Given the description of an element on the screen output the (x, y) to click on. 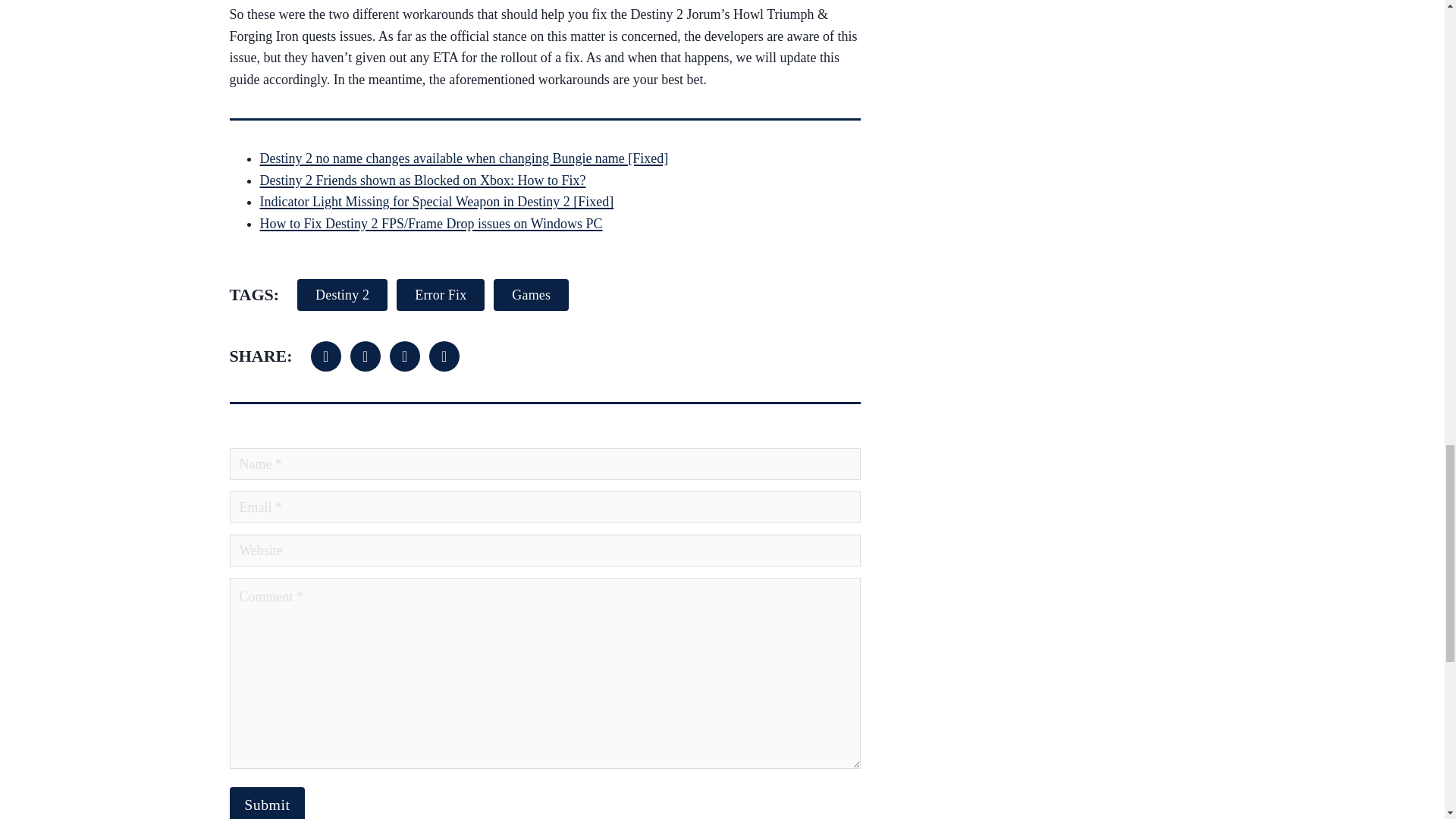
Destiny 2 (342, 295)
Submit (266, 803)
Submit (266, 803)
Games (531, 295)
Destiny 2 Friends shown as Blocked on Xbox: How to Fix? (422, 180)
Error Fix (440, 295)
